Given the description of an element on the screen output the (x, y) to click on. 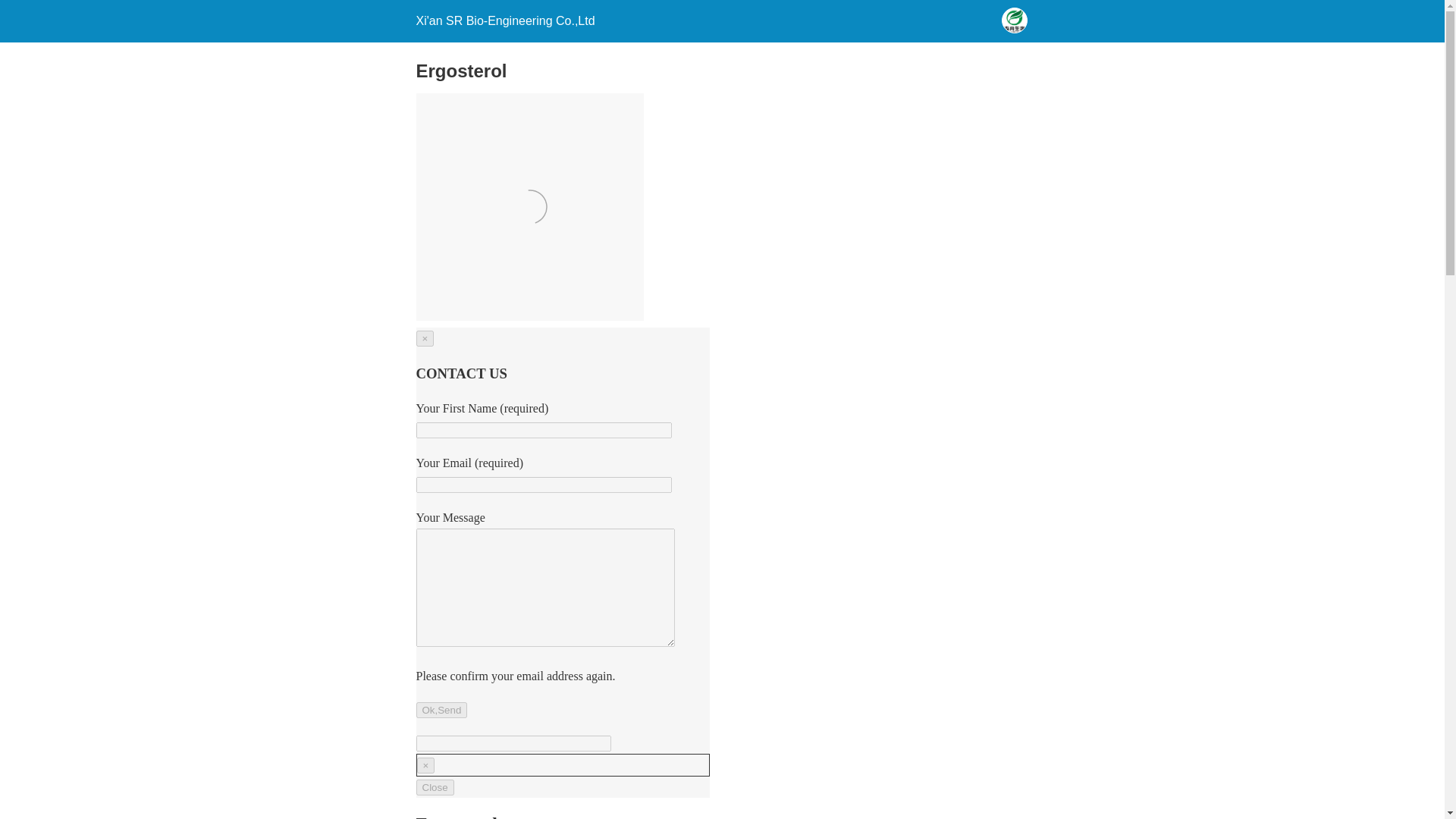
Ok,Send (440, 709)
Ergosterol (528, 207)
Xi'an SR Bio-Engineering Co.,Ltd (504, 20)
Ok,Send (440, 709)
Close (433, 787)
